Given the description of an element on the screen output the (x, y) to click on. 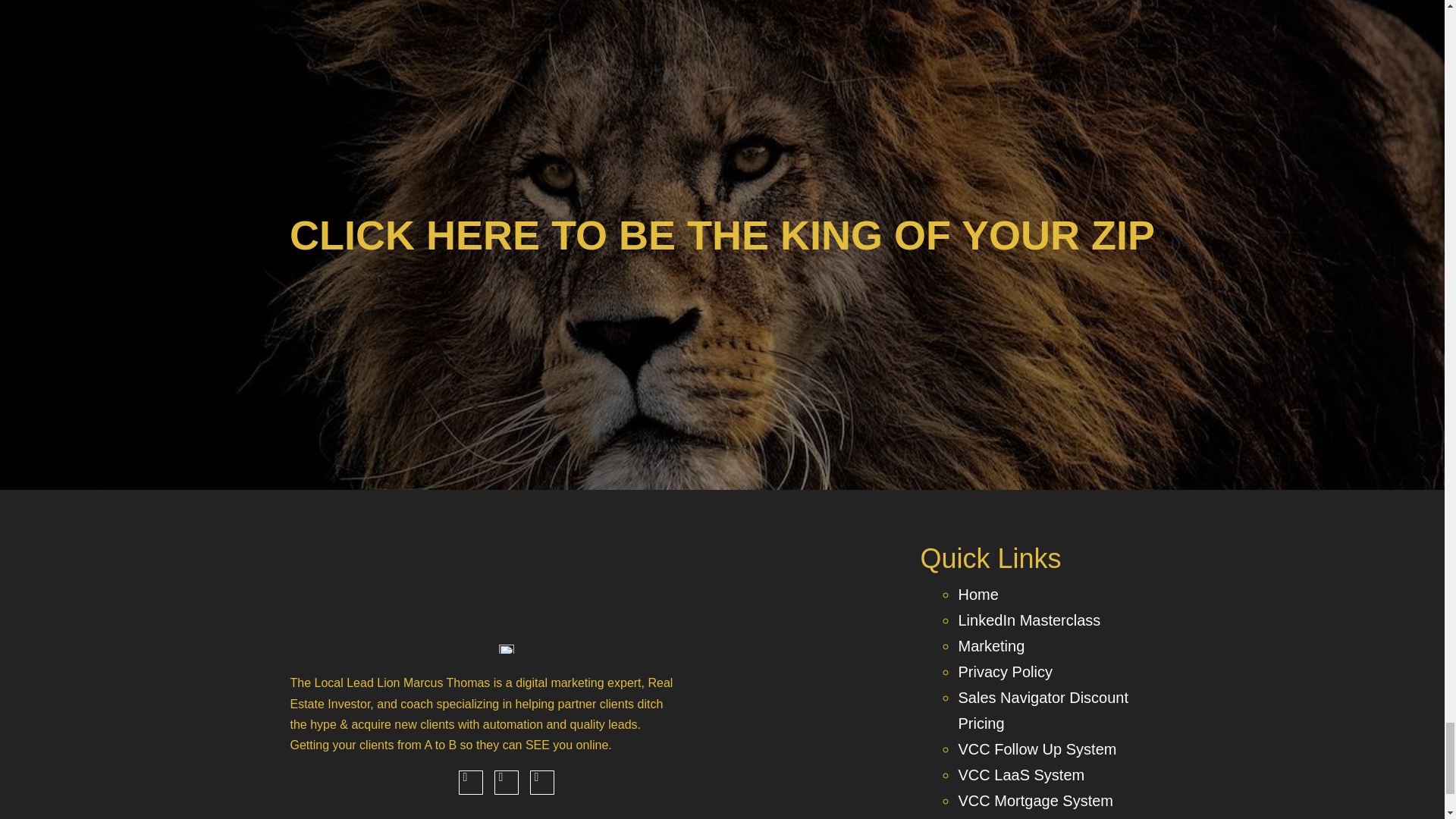
LinkedIn Masterclass (1029, 619)
VCC Follow Up System (1037, 749)
VCC LaaS System (1021, 774)
Home (977, 594)
Privacy Policy (1004, 671)
VCC Mortgage System (1035, 800)
Marketing (991, 646)
Sales Navigator Discount Pricing (1043, 710)
